Given the description of an element on the screen output the (x, y) to click on. 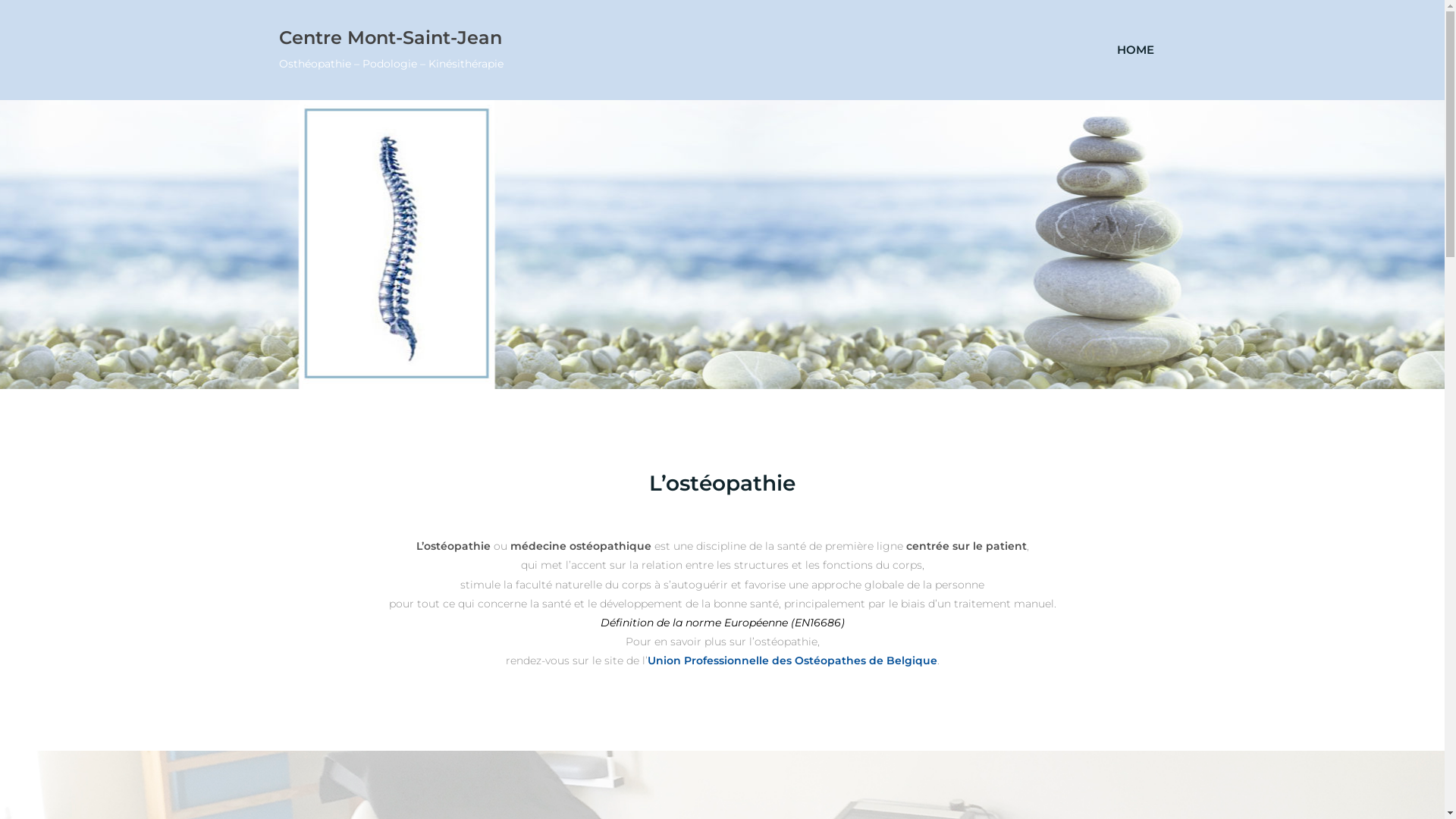
Skip to content Element type: text (0, 0)
Centre Mont-Saint-Jean Element type: text (390, 35)
HOME Element type: text (1134, 49)
